Given the description of an element on the screen output the (x, y) to click on. 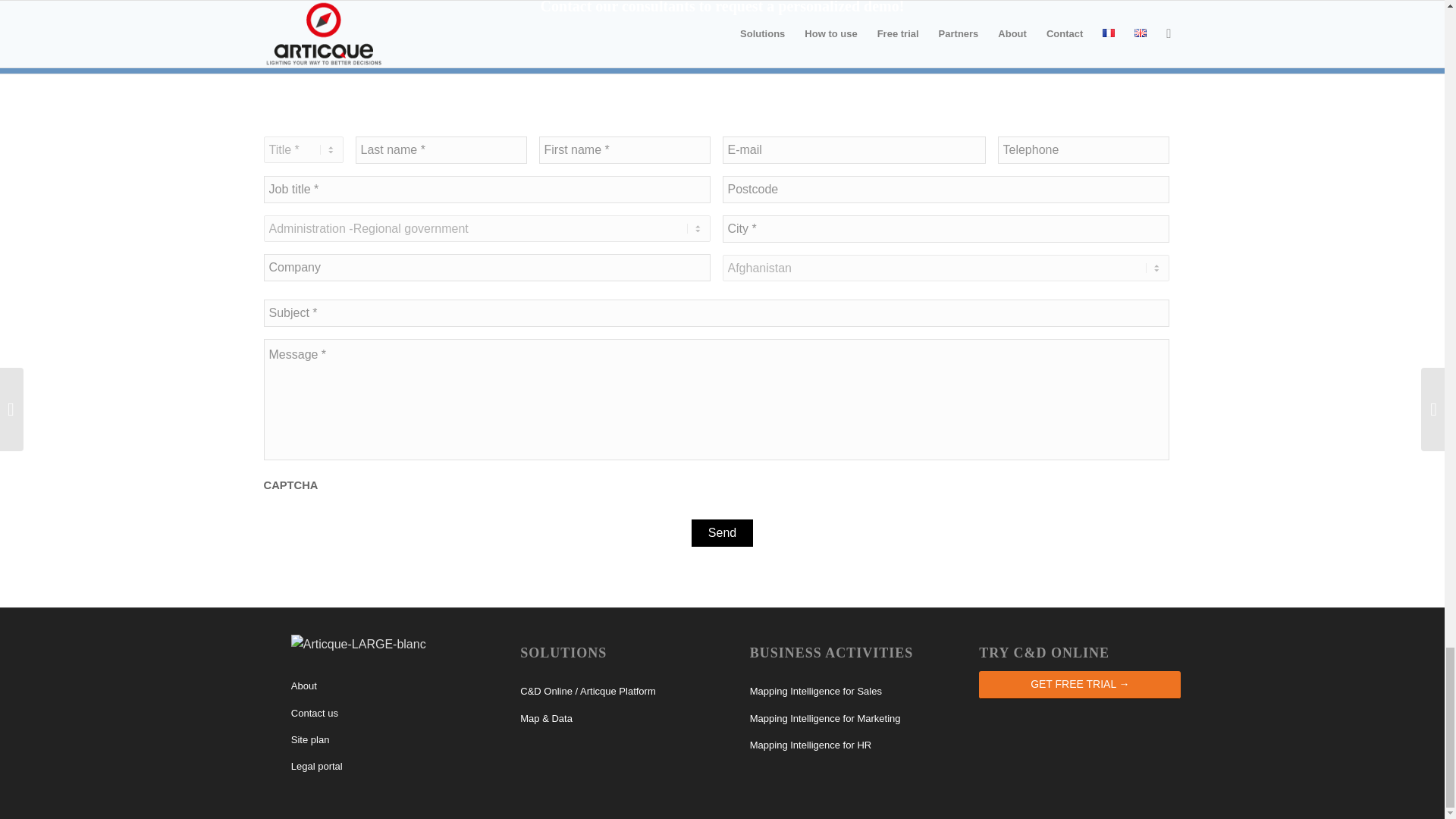
Site plan (392, 740)
About (392, 686)
Contact us (392, 714)
Send (721, 533)
Legal portal (392, 766)
Send (721, 533)
